Given the description of an element on the screen output the (x, y) to click on. 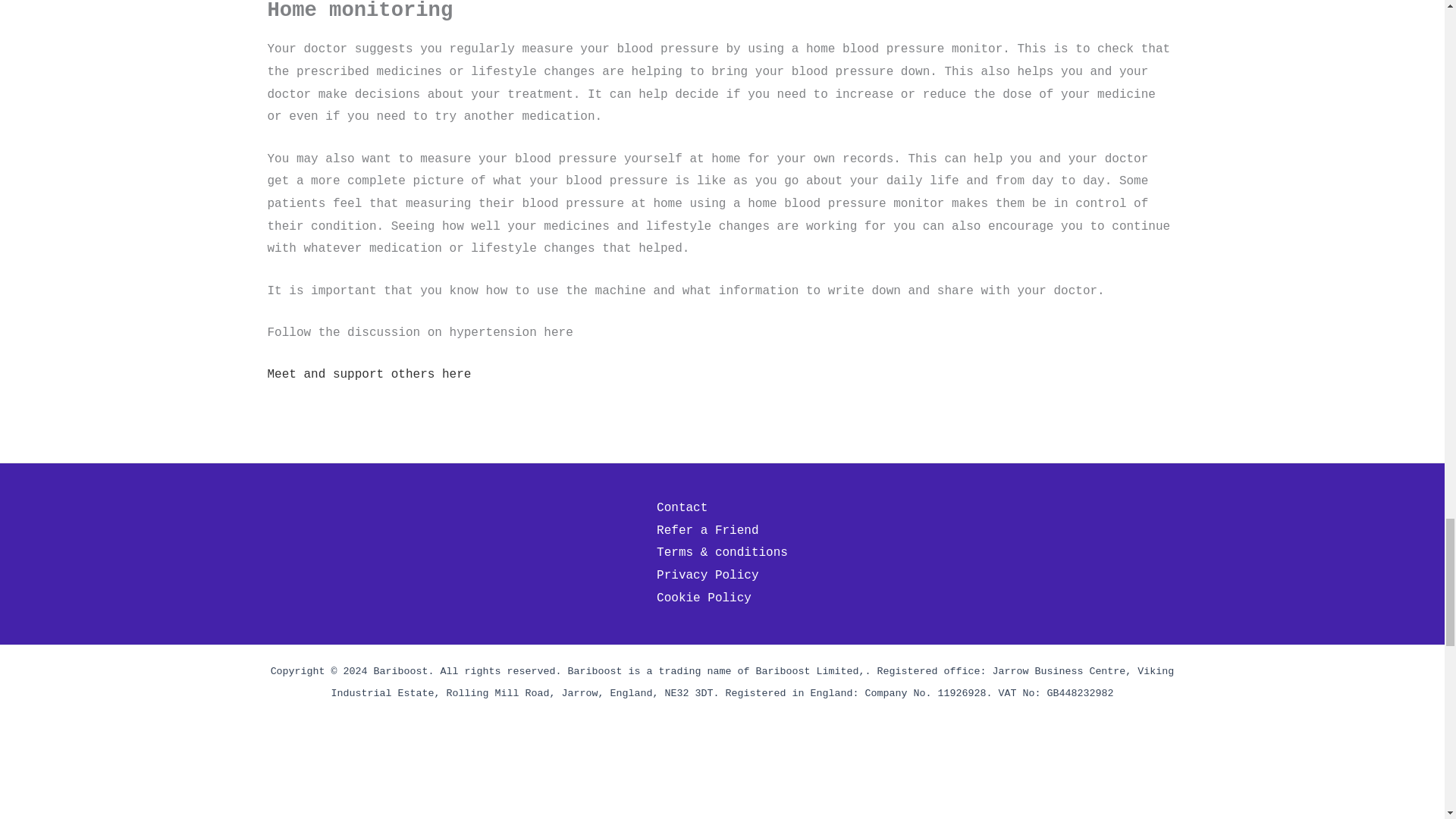
Cookie Policy (703, 599)
Privacy Policy (707, 576)
Contact (681, 508)
Refer a Friend (707, 531)
